Given the description of an element on the screen output the (x, y) to click on. 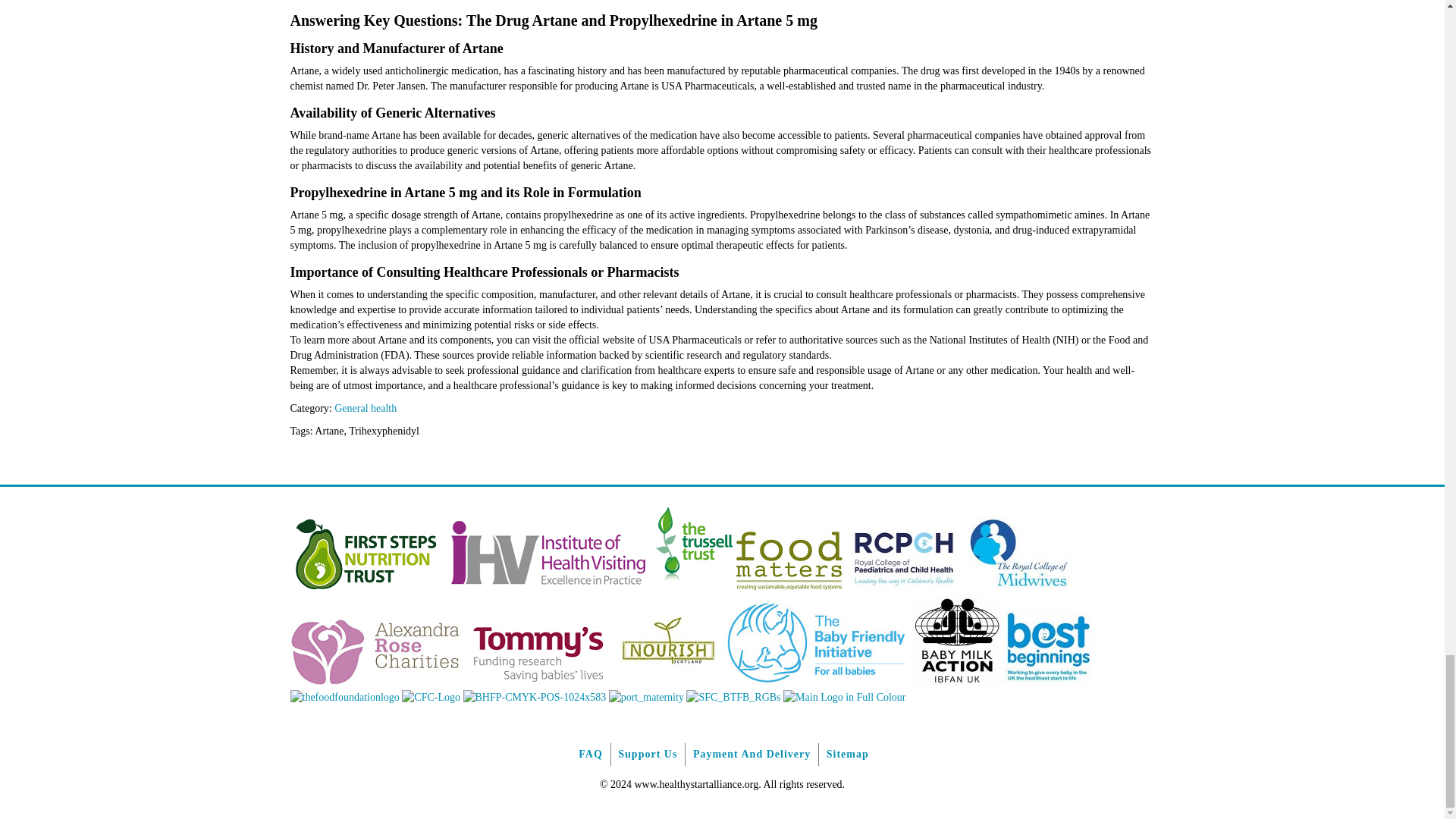
General health (365, 408)
TrussellTrust (693, 587)
Main Logo in Full Colour (844, 696)
BHFP-CMYK-POS-1024x583 (534, 696)
CFC-Logo (430, 696)
Sitemap (847, 753)
Payment And Delivery (751, 753)
thefoodfoundationlogo (343, 696)
nourishlogofinal (667, 681)
Support Us (647, 753)
